Given the description of an element on the screen output the (x, y) to click on. 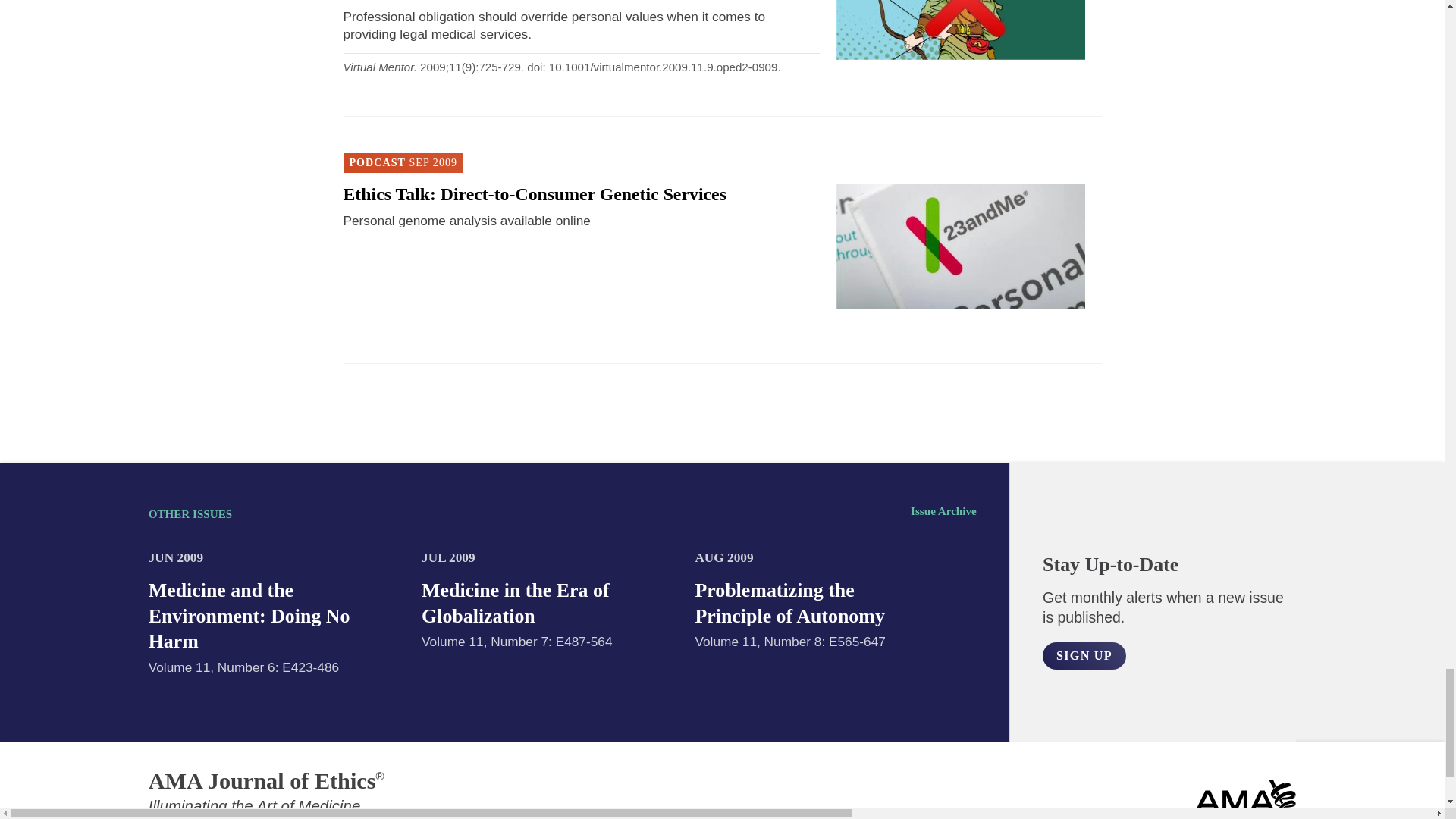
alt (1083, 655)
Issue Archive (943, 510)
